Given the description of an element on the screen output the (x, y) to click on. 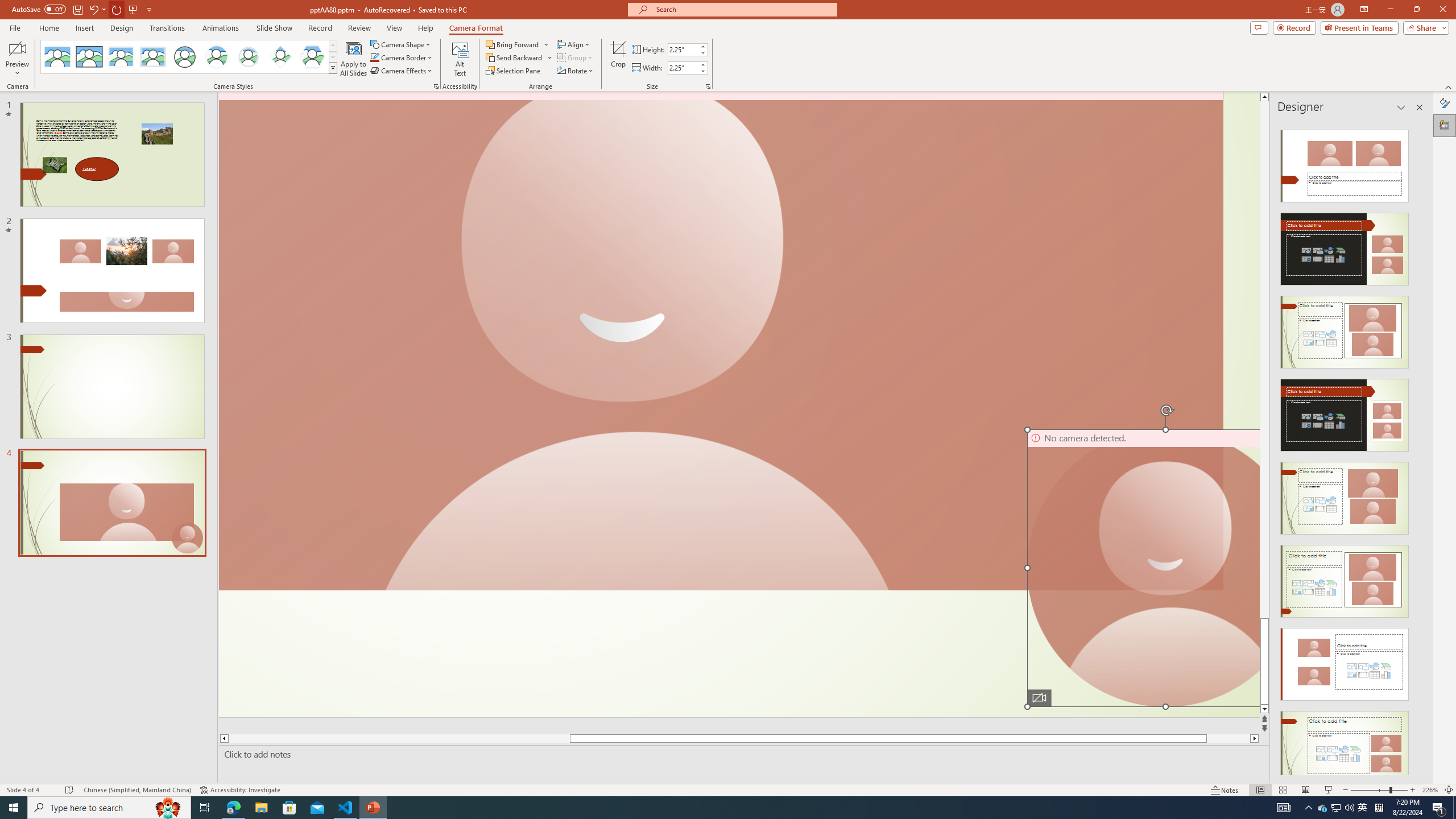
AutomationID: CameoStylesGallery (189, 56)
Center Shadow Diamond (280, 56)
Zoom 226% (1430, 790)
Camera Border (401, 56)
Camera 3, No camera detected. (721, 341)
Enable Camera Preview (17, 48)
